Given the description of an element on the screen output the (x, y) to click on. 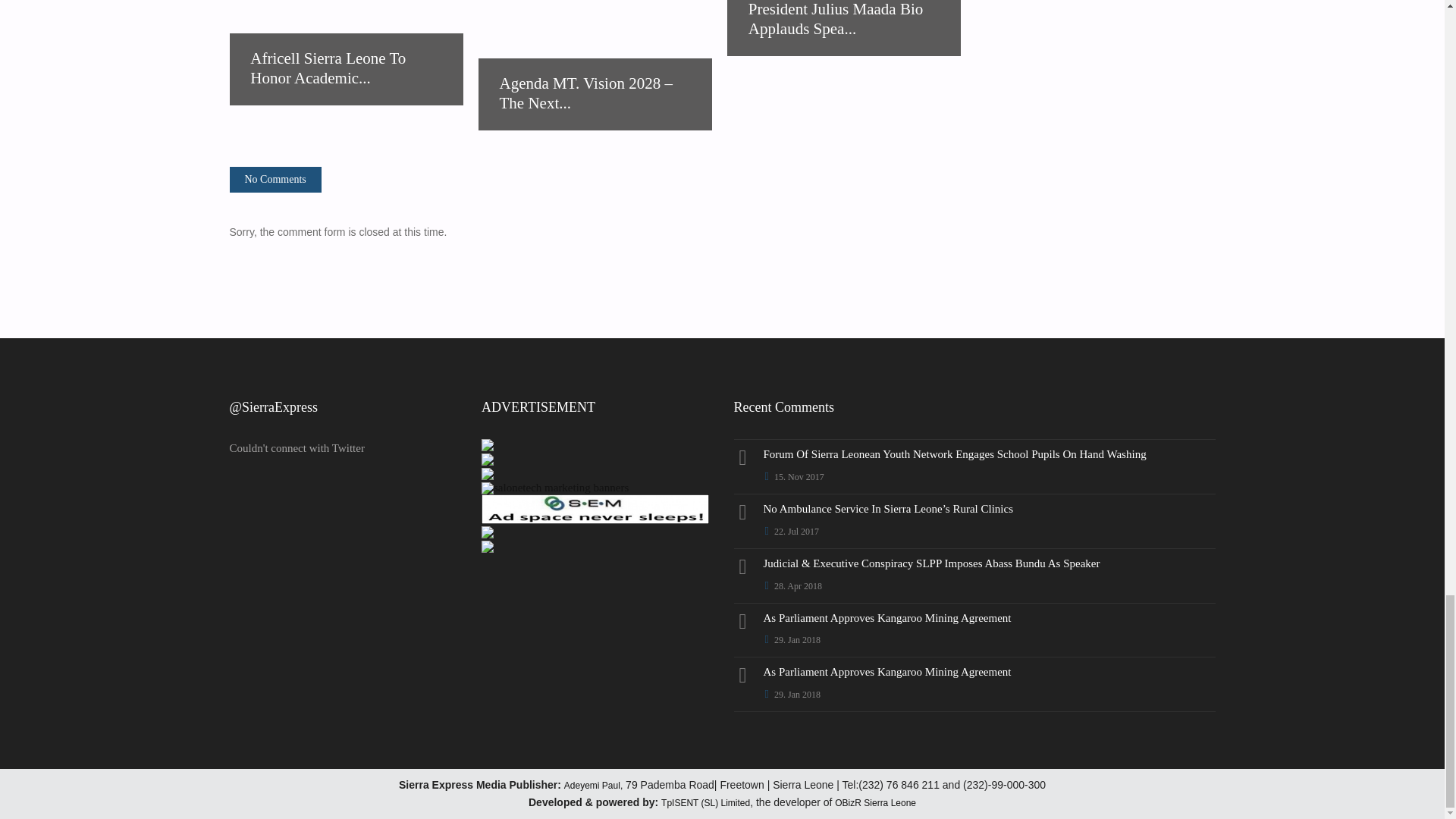
Internet Programming Solutions - A SaloneTech Company (487, 534)
OBizR Sierra Leone (874, 802)
